Given the description of an element on the screen output the (x, y) to click on. 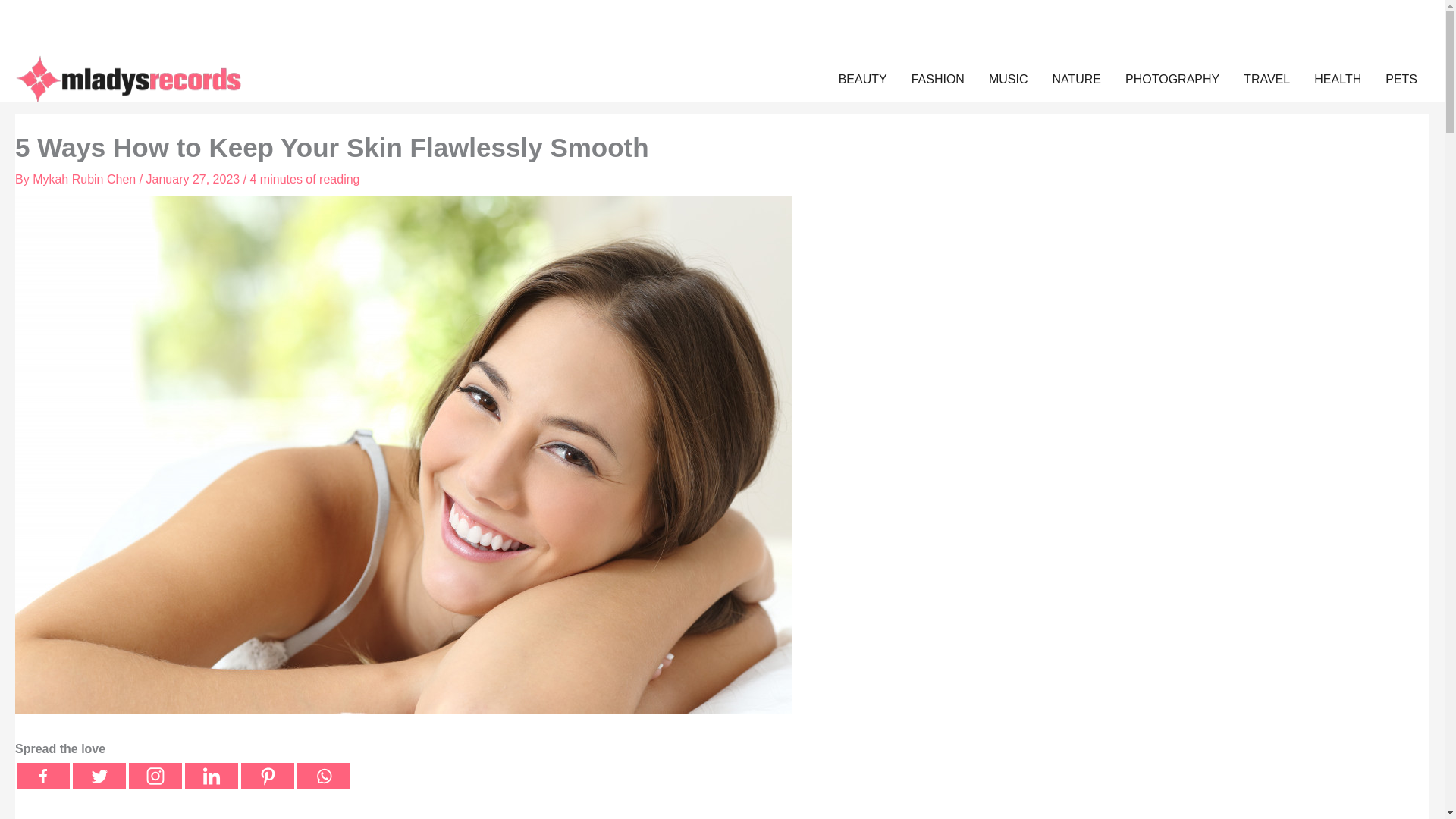
HEALTH (1337, 78)
TRAVEL (1266, 78)
Twitter (98, 775)
Mykah Rubin Chen (85, 178)
Facebook (42, 775)
NATURE (1076, 78)
Pinterest (267, 775)
View all posts by Mykah Rubin Chen (85, 178)
Whatsapp (323, 775)
HOME (41, 15)
SITEMAP (88, 15)
Linkedin (211, 775)
FASHION (937, 78)
MUSIC (1008, 78)
BEAUTY (863, 78)
